Given the description of an element on the screen output the (x, y) to click on. 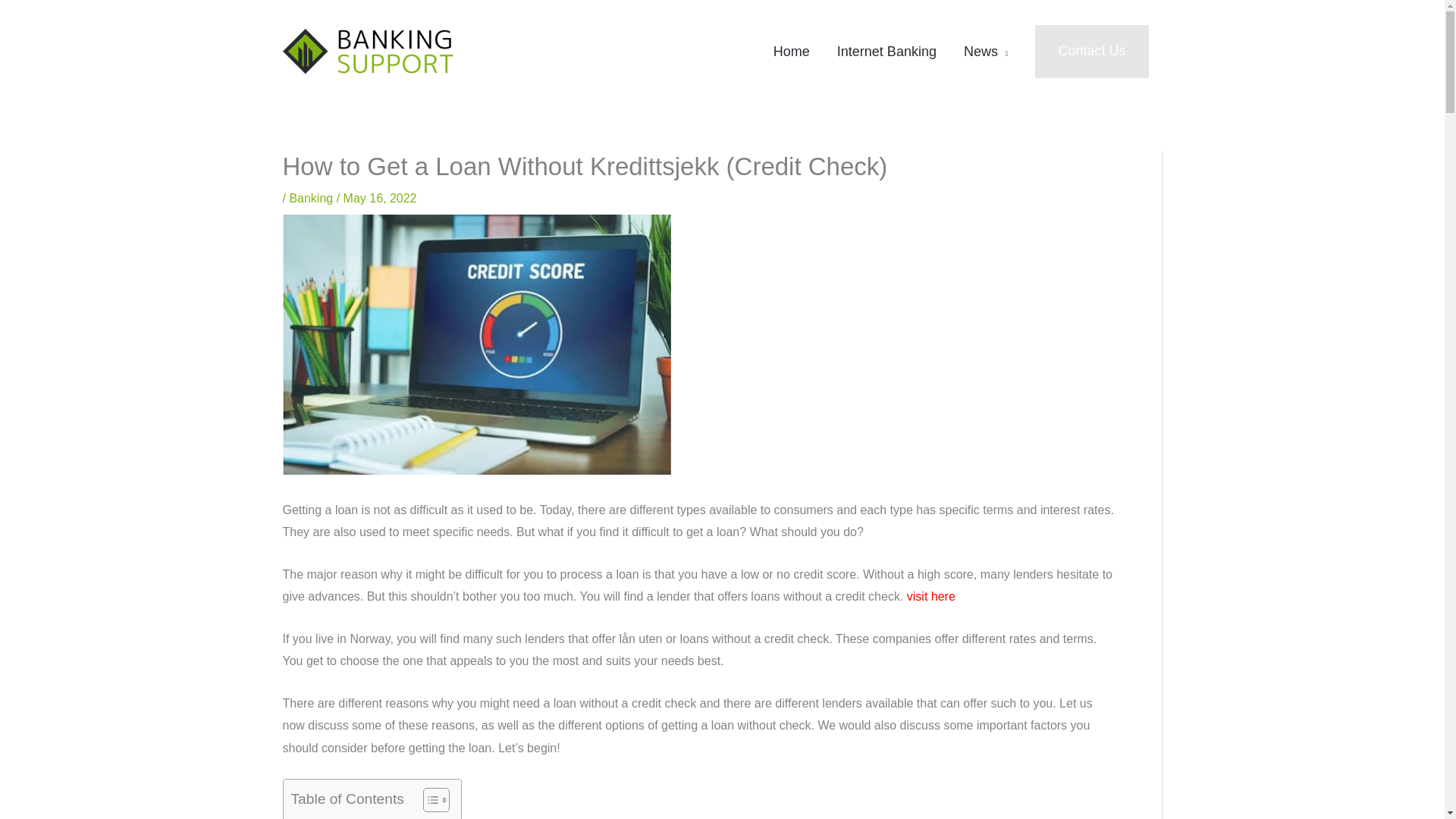
Internet Banking (887, 51)
Banking (310, 197)
Contact Us (1091, 50)
News (986, 51)
